Given the description of an element on the screen output the (x, y) to click on. 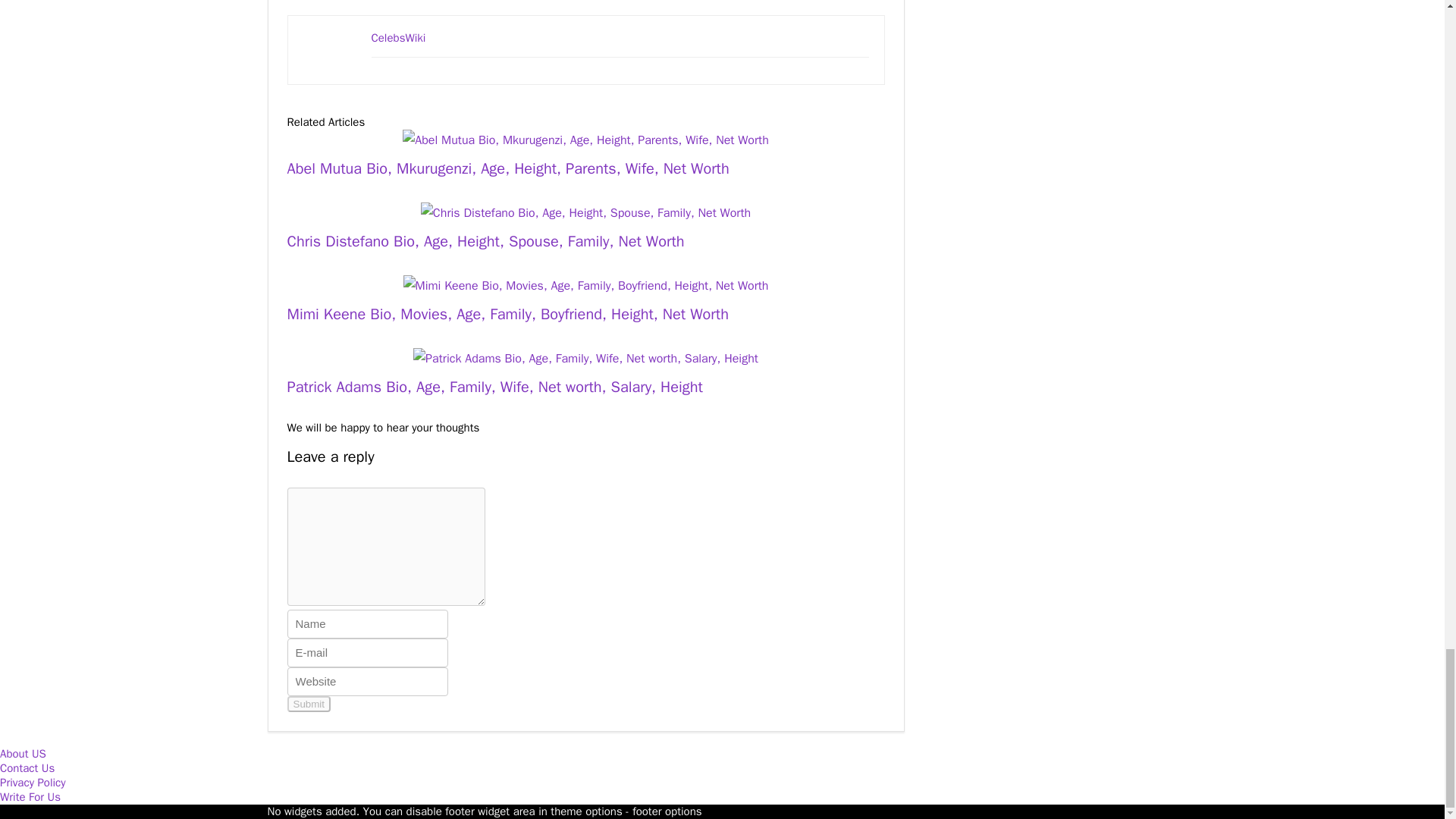
CelebsWiki (398, 38)
Submit (308, 703)
Submit (308, 703)
Chris Distefano Bio, Age, Height, Spouse, Family, Net Worth (485, 240)
